Given the description of an element on the screen output the (x, y) to click on. 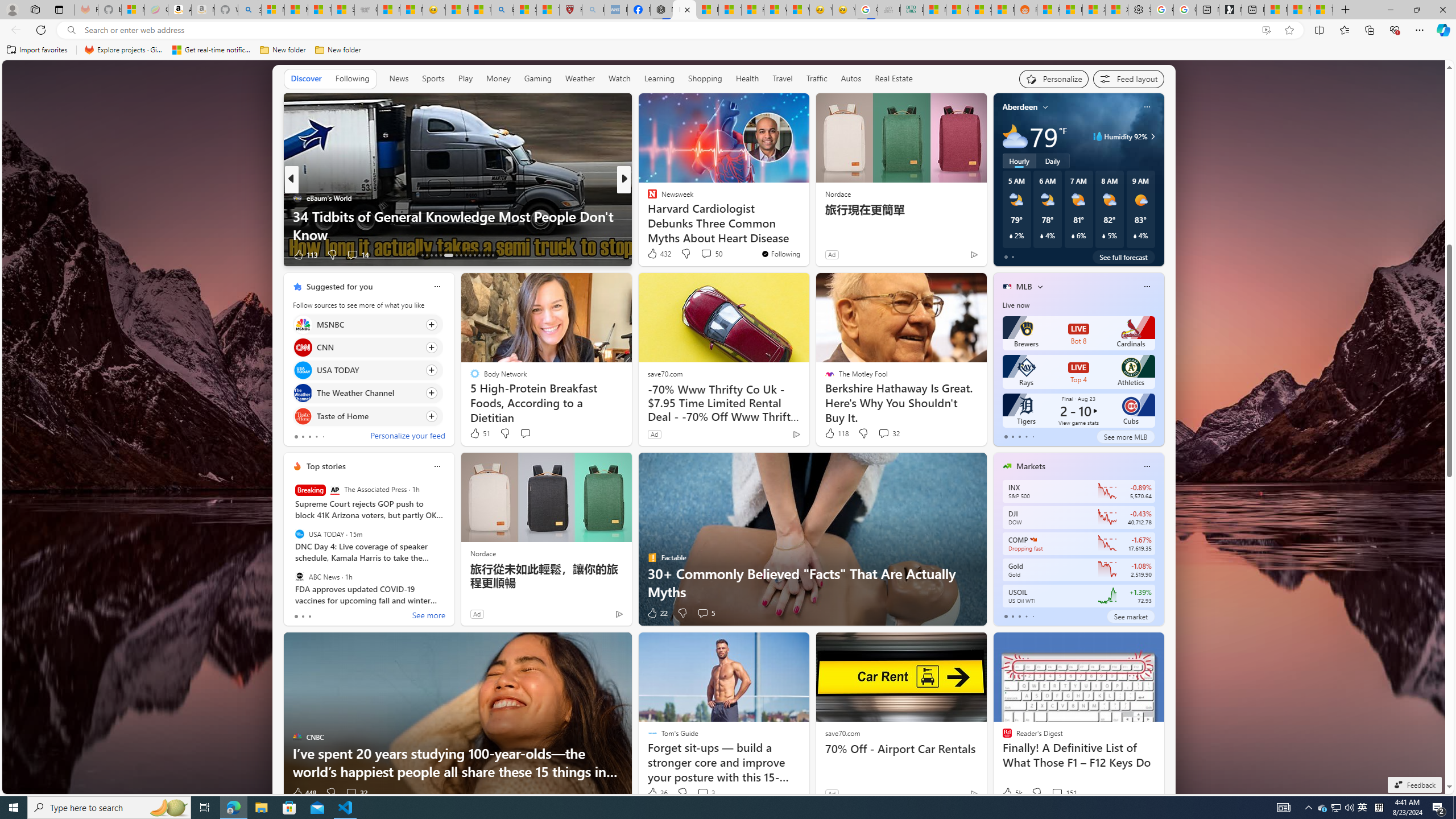
AutomationID: tab-80 (488, 255)
See more MLB (1125, 436)
View comments 3 Comment (703, 792)
View comments 14 Comment (707, 254)
Click to follow source CNN (367, 347)
View comments 64 Comment (6, 254)
View comments 32 Comment (350, 792)
View comments 104 Comment (709, 254)
Brewers LIVE Bot 8 Cardinals (1077, 333)
